Given the description of an element on the screen output the (x, y) to click on. 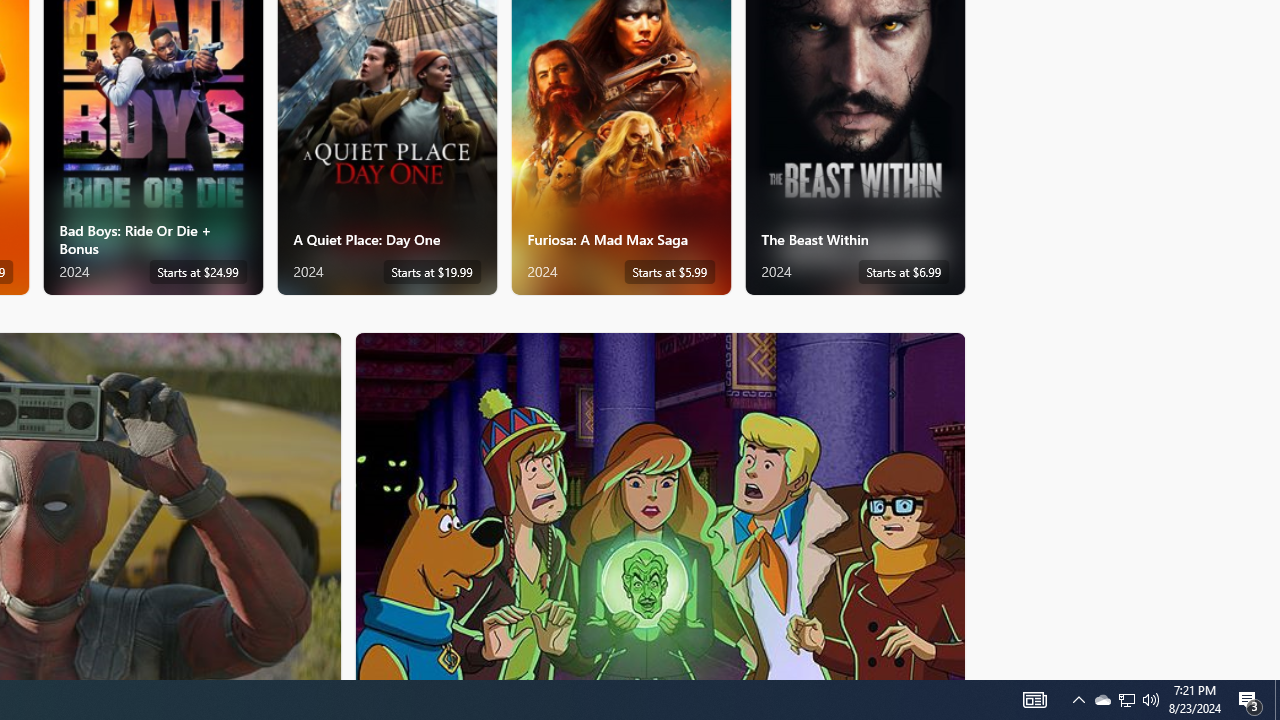
AutomationID: PosterImage (658, 505)
Family (660, 505)
